Given the description of an element on the screen output the (x, y) to click on. 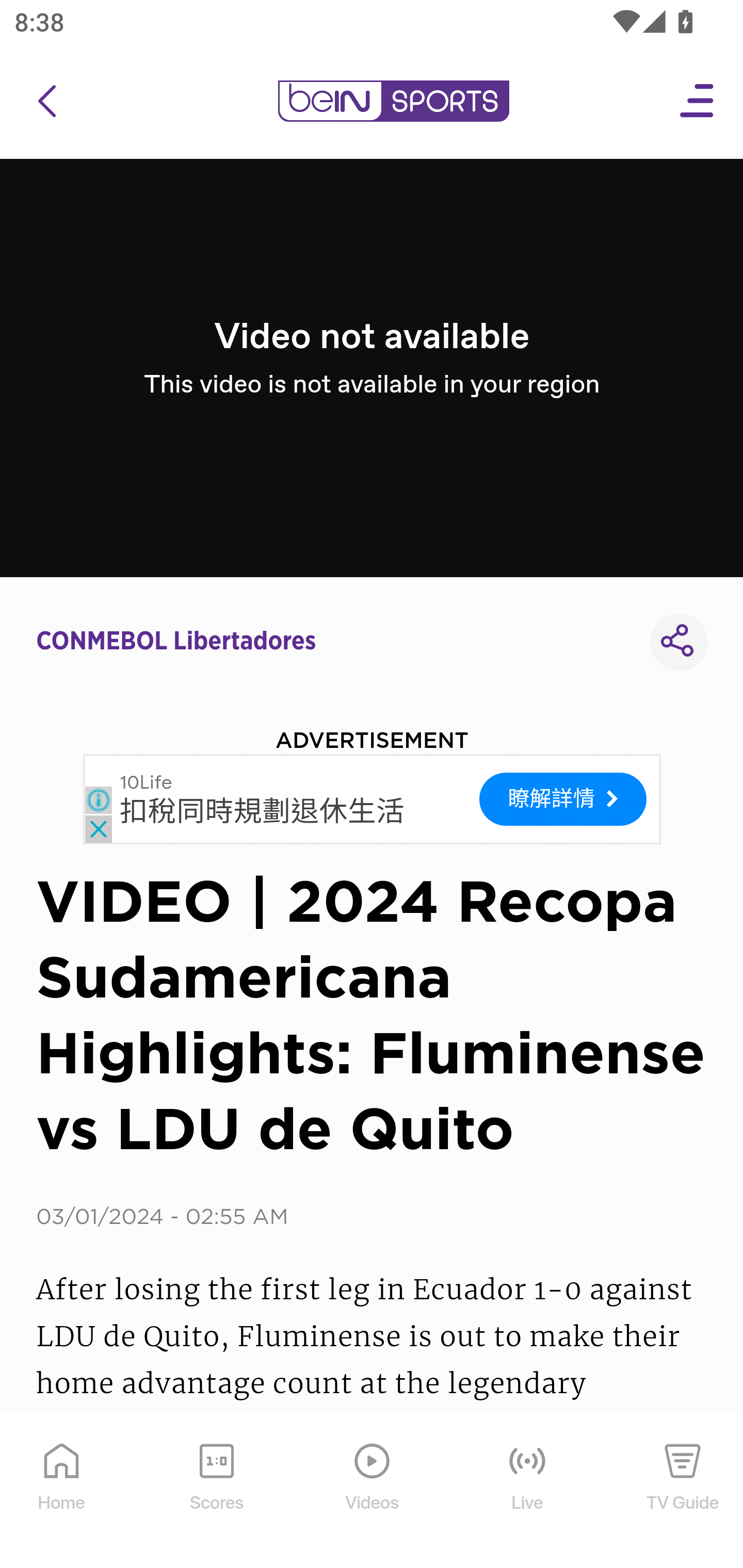
en-us?platform=mobile_android bein logo (392, 101)
icon back (46, 101)
Open Menu Icon (697, 101)
10Life (145, 782)
瞭解詳情 (562, 799)
扣稅同時規劃退休生活 (262, 811)
Home Home Icon Home (61, 1491)
Scores Scores Icon Scores (216, 1491)
Videos Videos Icon Videos (372, 1491)
TV Guide TV Guide Icon TV Guide (682, 1491)
